Given the description of an element on the screen output the (x, y) to click on. 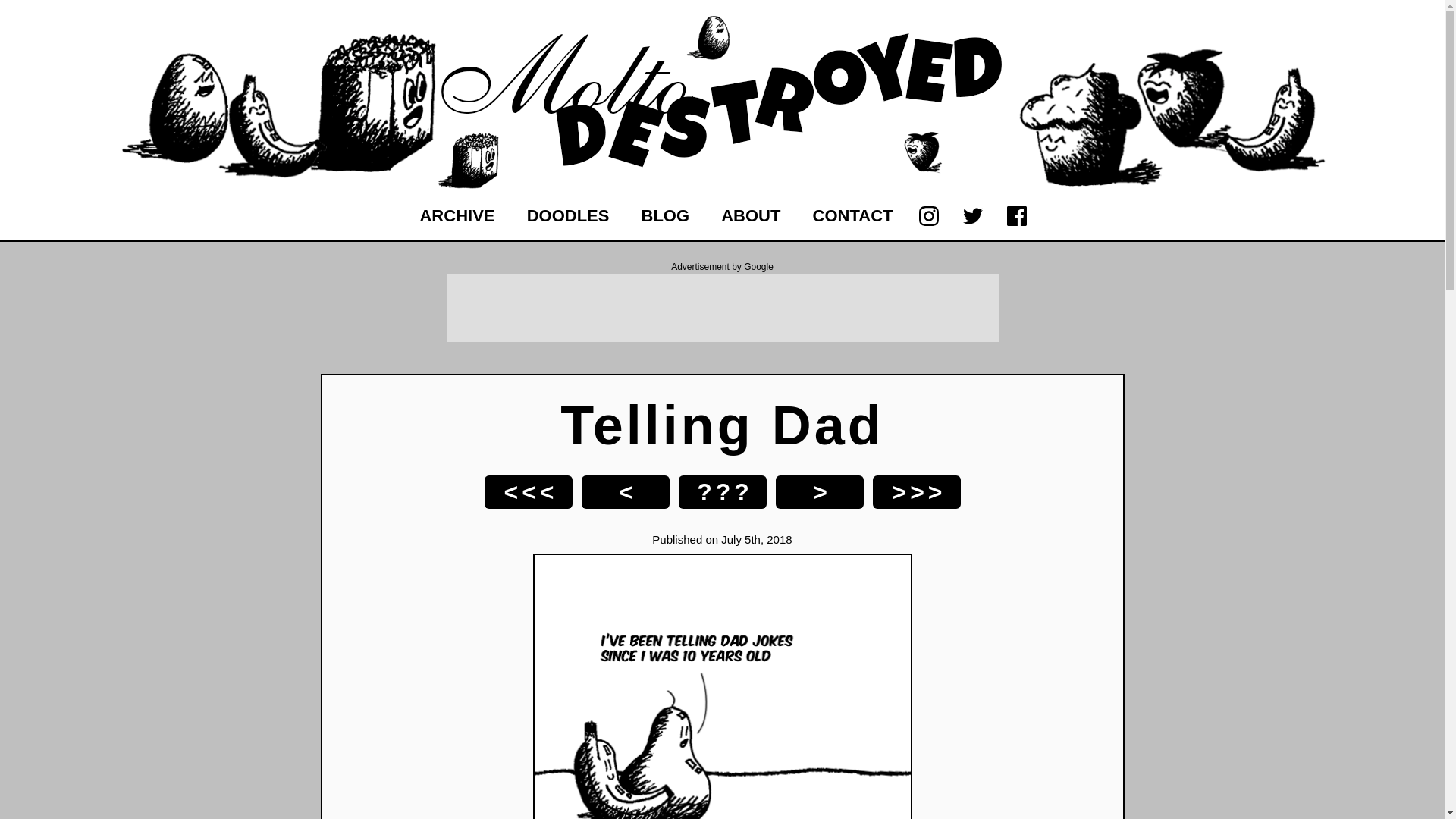
Follow on Instagram (928, 216)
BLOG (665, 215)
on Facebook (1016, 216)
ARCHIVE (457, 215)
on Instagram (928, 216)
Follow on Twitter (972, 216)
CONTACT (853, 215)
moltoDESTROYED (721, 171)
Advertisement (721, 307)
DOODLES (568, 215)
Follow on Facebook (1016, 216)
on Twitter (972, 216)
ABOUT (750, 215)
